Given the description of an element on the screen output the (x, y) to click on. 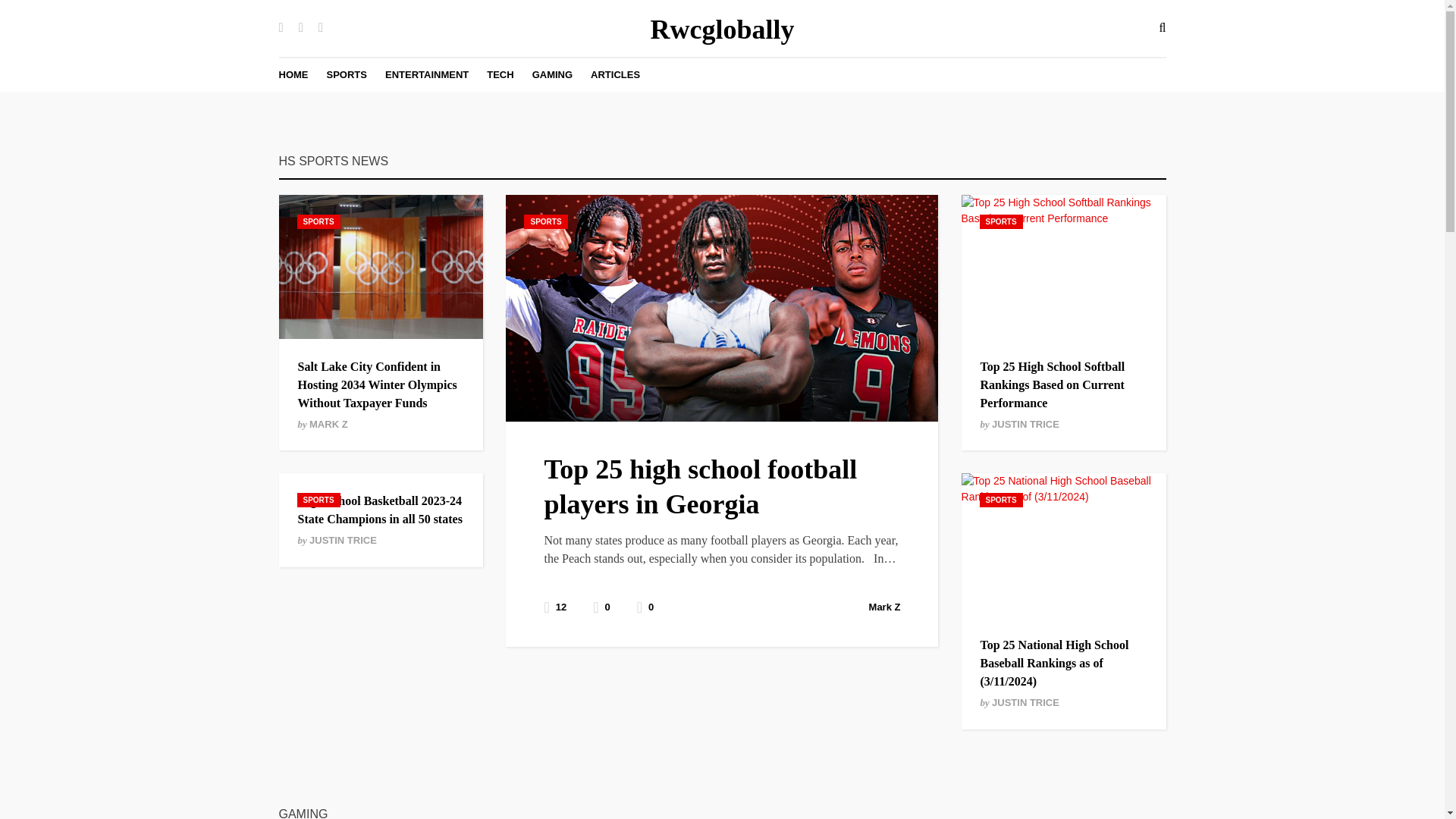
0 (645, 607)
Top 25 high school football players in Georgia (700, 487)
JUSTIN TRICE (1025, 702)
ENTERTAINMENT (426, 74)
SPORTS (1001, 499)
Rwcglobally (721, 29)
SPORTS (346, 74)
Mark Z (885, 607)
JUSTIN TRICE (342, 540)
GAMING (552, 74)
